Given the description of an element on the screen output the (x, y) to click on. 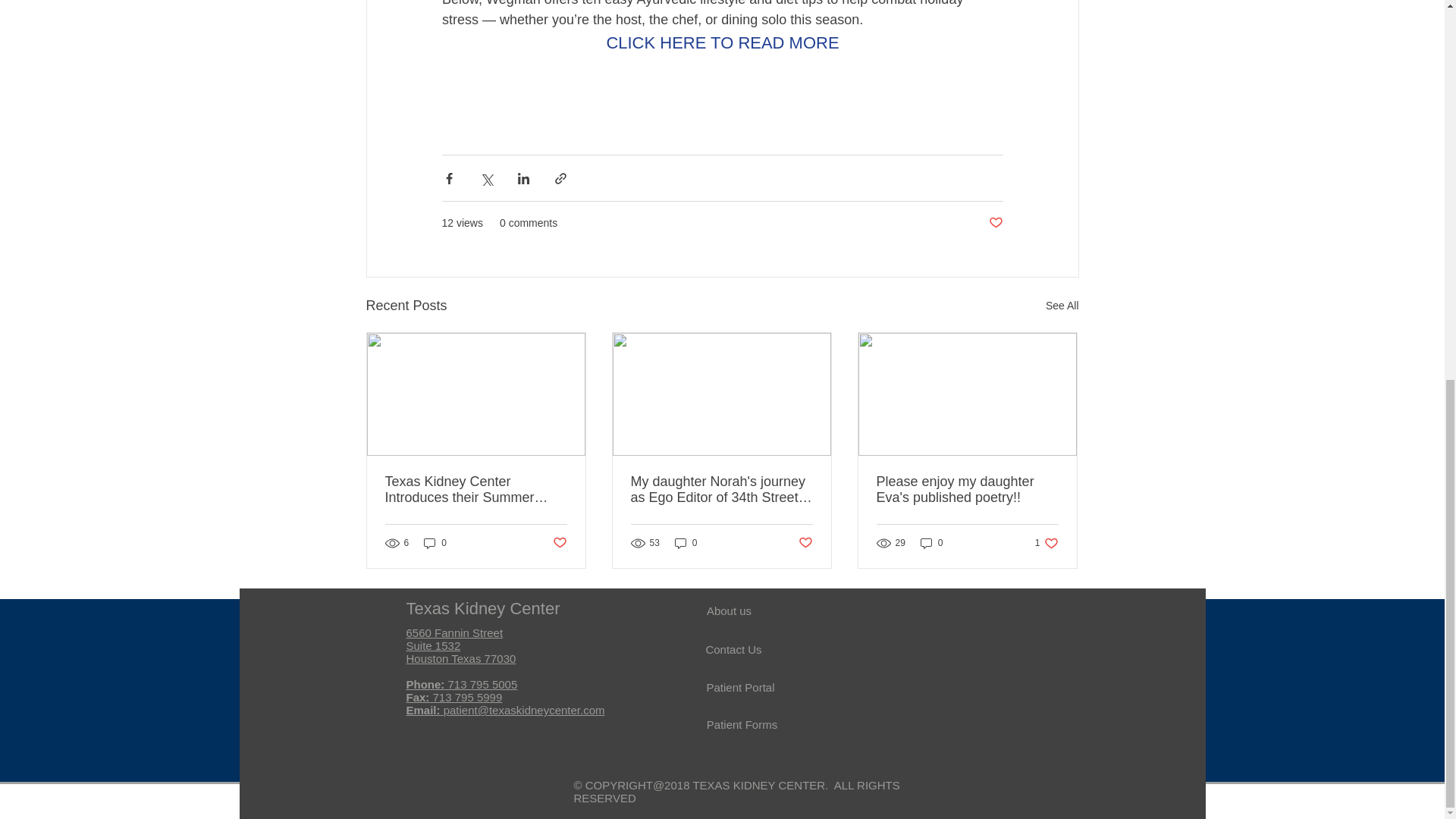
Post not marked as liked (804, 543)
Please enjoy my daughter Eva's published poetry!! (967, 490)
See All (1046, 543)
0 (1061, 305)
Texas Kidney Center Introduces their Summer Internship! (685, 543)
0 (476, 490)
Post not marked as liked (931, 543)
CLICK HERE TO READ MORE (558, 543)
